Given the description of an element on the screen output the (x, y) to click on. 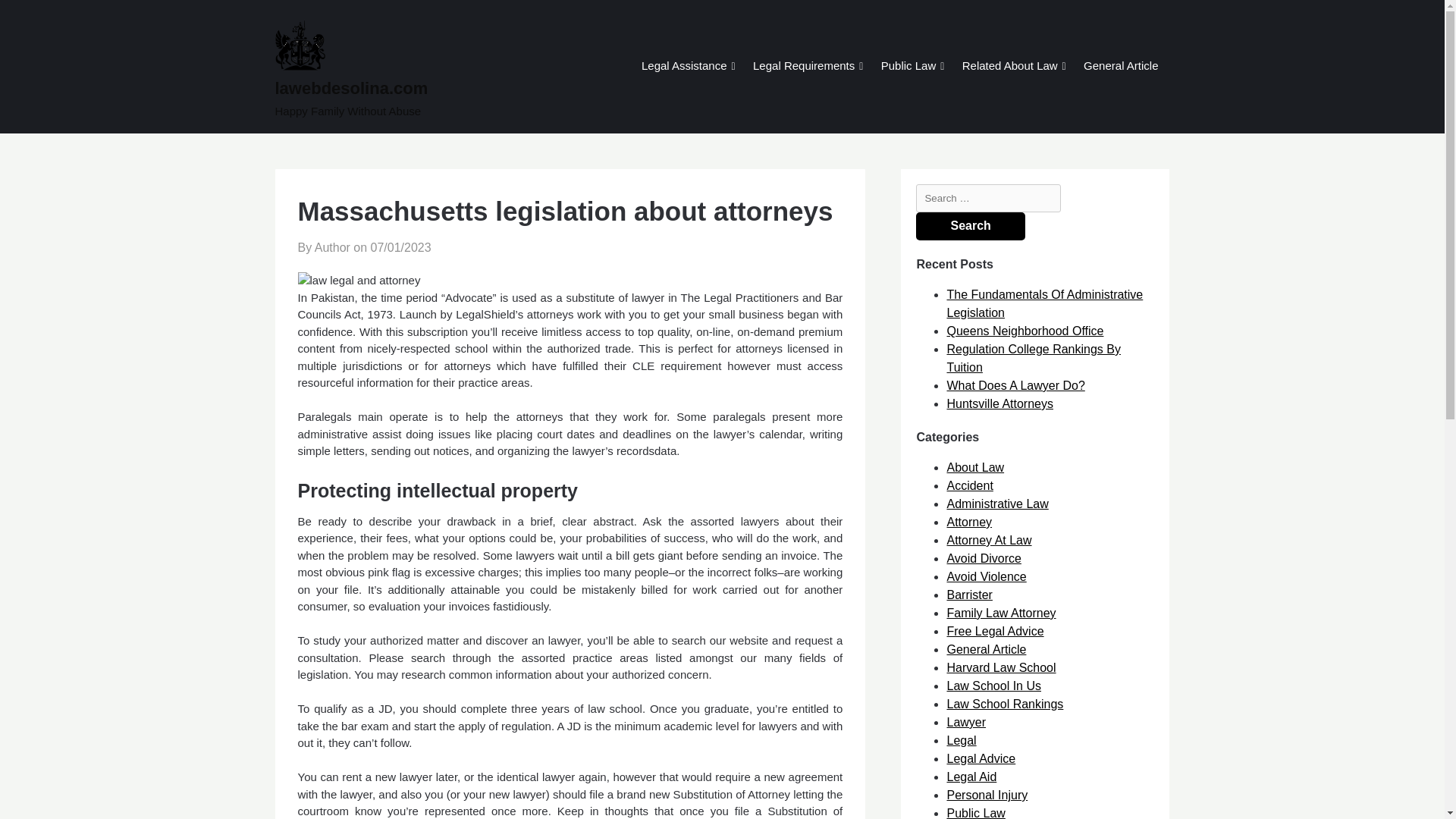
Search (970, 226)
General Article (1120, 66)
Search (970, 226)
lawebdesolina.com (409, 88)
Related About Law (1009, 66)
Legal Requirements (803, 66)
Legal Assistance (684, 66)
Public Law (908, 66)
